Given the description of an element on the screen output the (x, y) to click on. 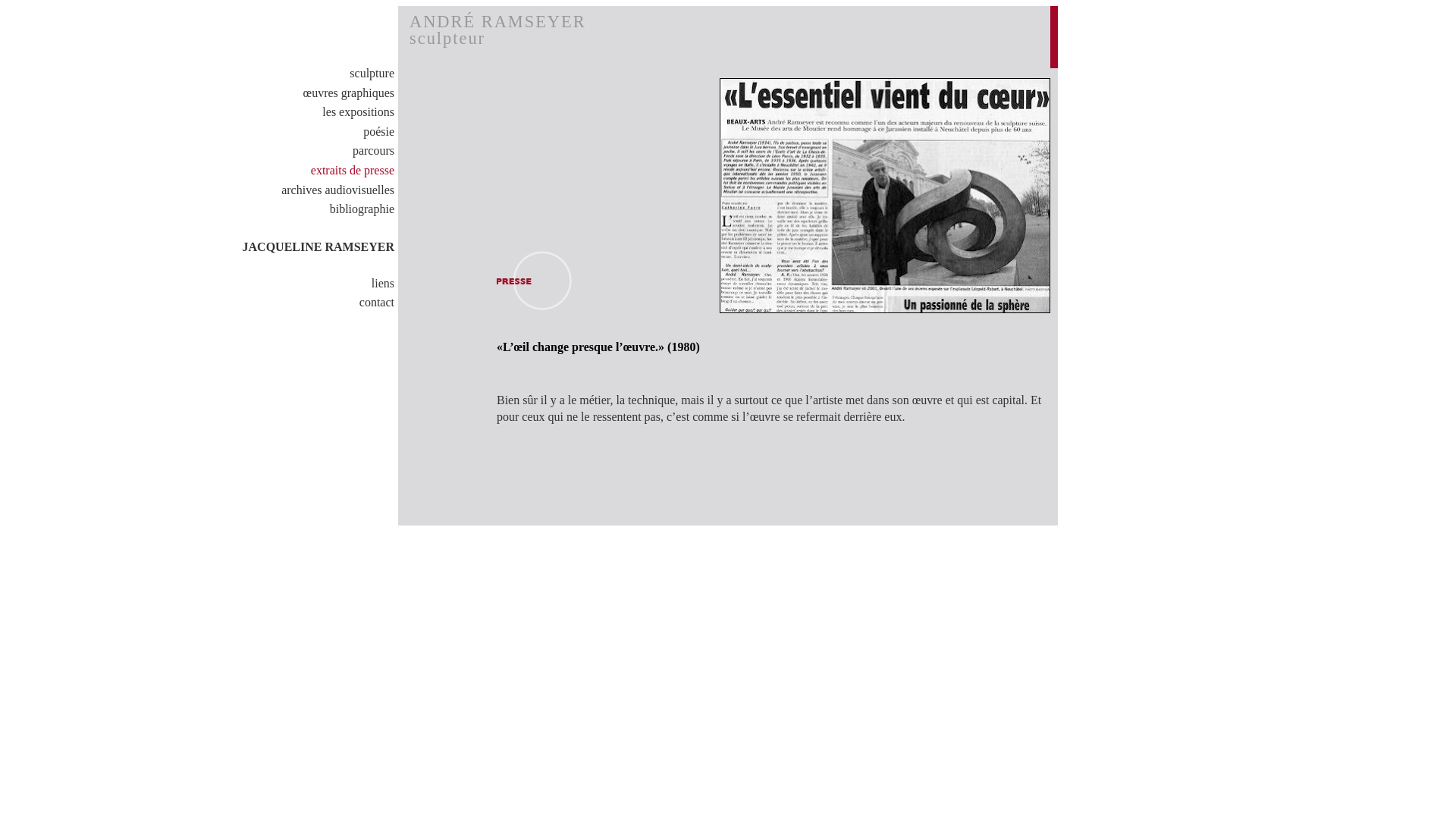
les expositions Element type: text (314, 115)
contact Element type: text (314, 305)
sculpture Element type: text (314, 76)
bibliographie Element type: text (314, 212)
JACQUELINE RAMSEYER Element type: text (314, 249)
liens Element type: text (314, 286)
archives audiovisuelles Element type: text (314, 193)
extraits de presse Element type: text (314, 173)
parcours Element type: text (314, 153)
